Given the description of an element on the screen output the (x, y) to click on. 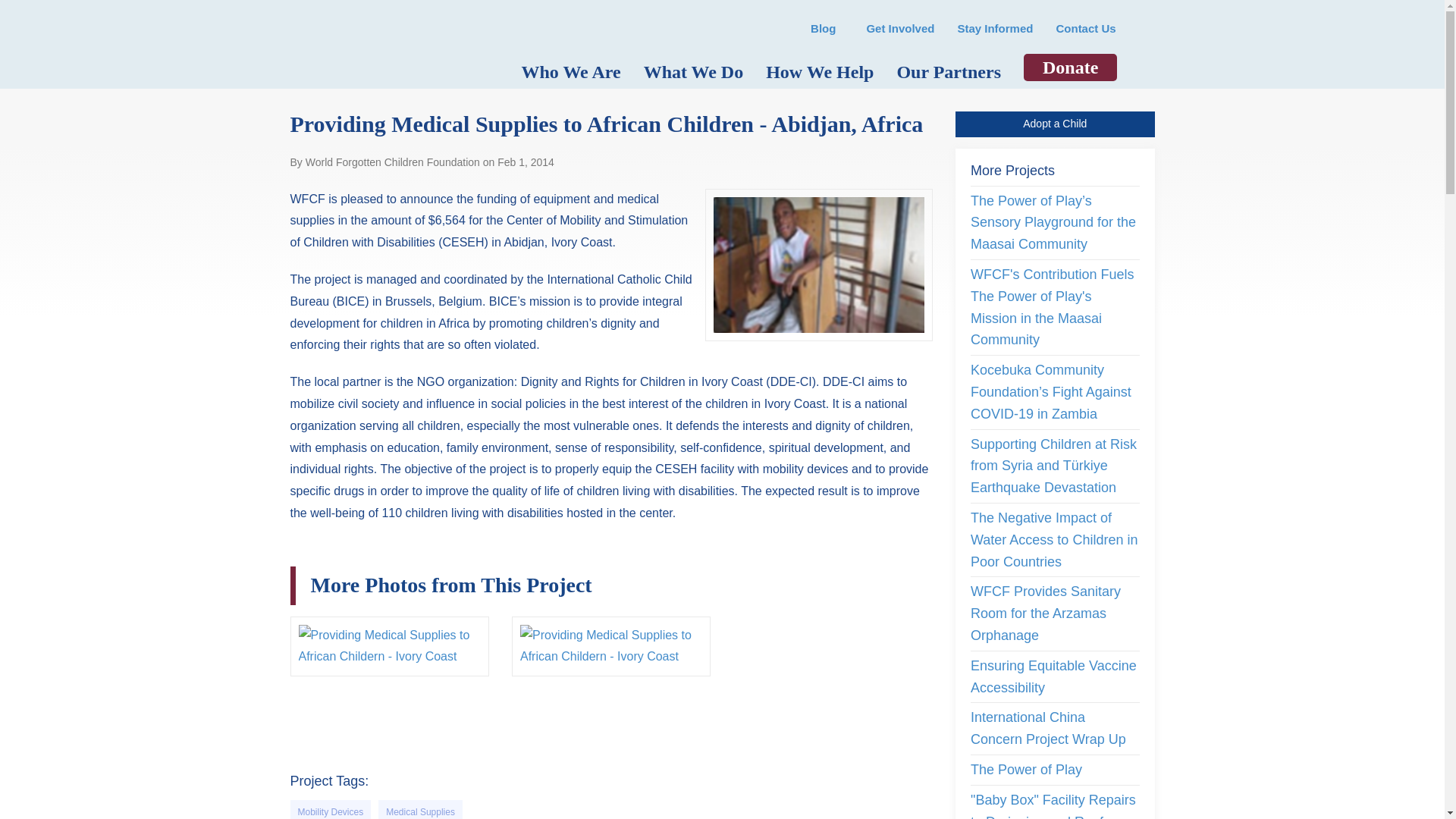
Who We Are (570, 71)
The Power of Play (1026, 769)
International China Concern Project Wrap Up (1048, 728)
Donate (1069, 67)
Stay Informed (994, 28)
Ensuring Equitable Vaccine Accessibility (1054, 676)
Our Partners (948, 71)
Blog (822, 28)
